Given the description of an element on the screen output the (x, y) to click on. 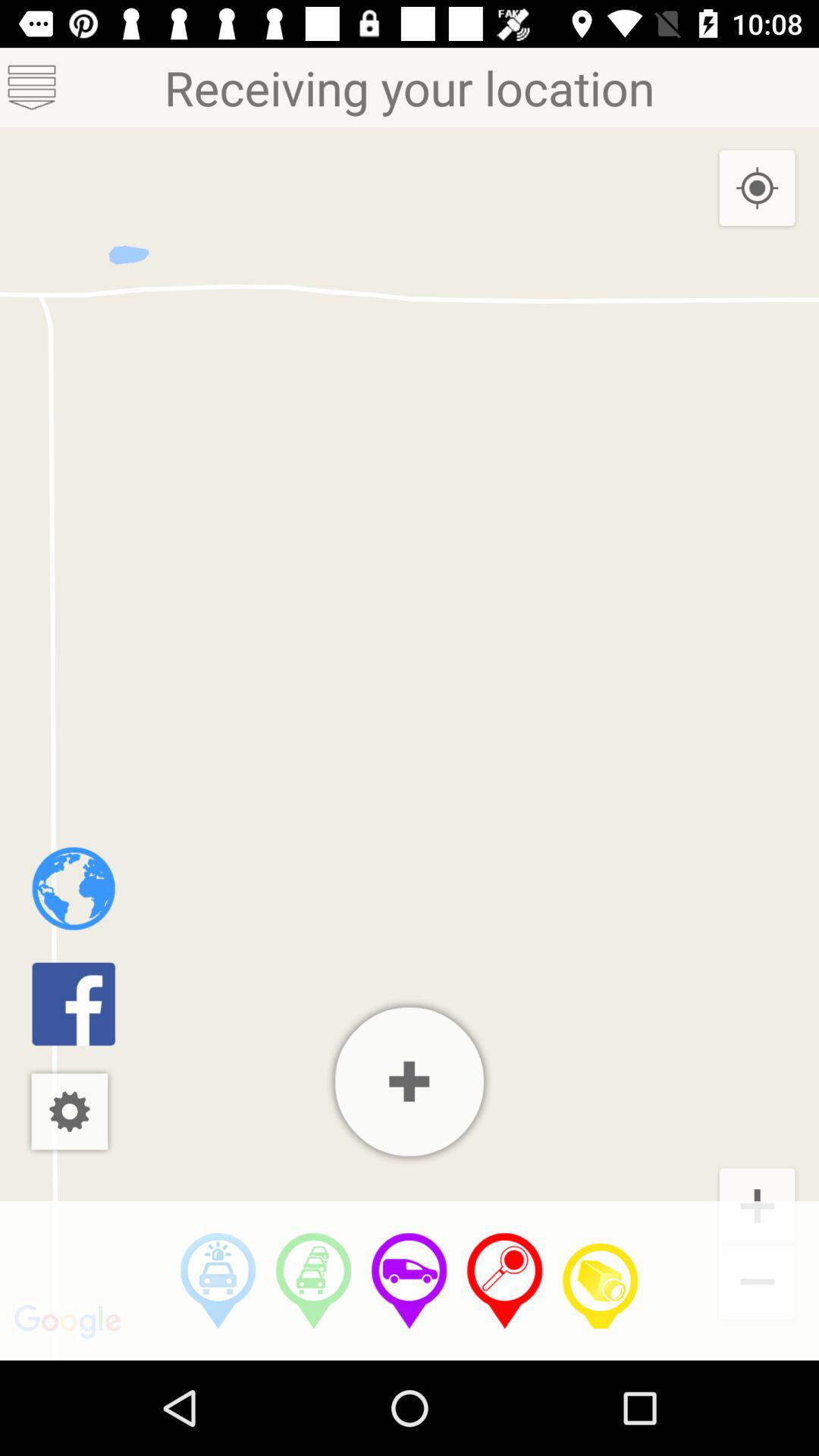
switch to drive mode (409, 1280)
